Given the description of an element on the screen output the (x, y) to click on. 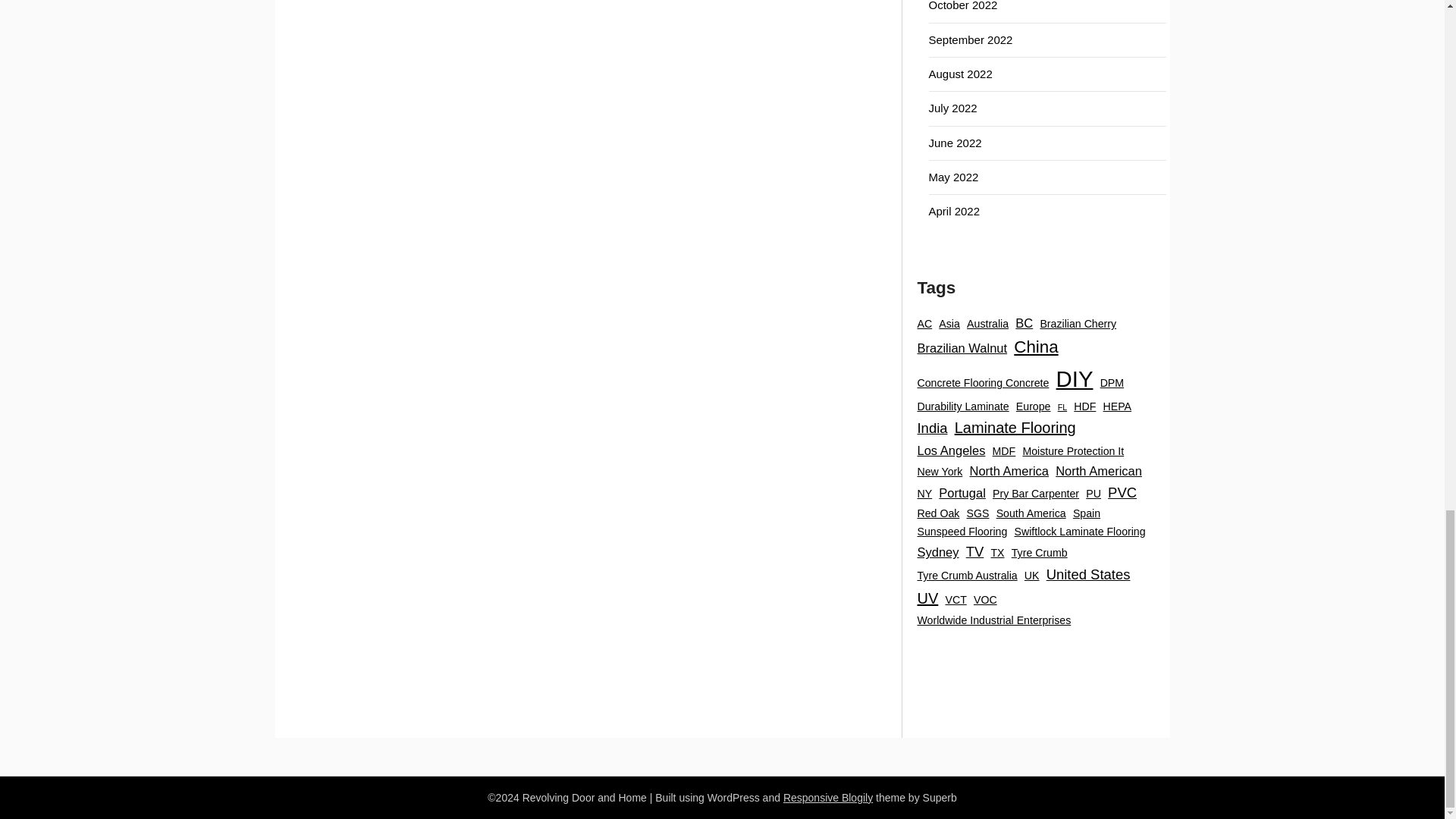
October 2022 (962, 5)
June 2022 (954, 142)
August 2022 (959, 73)
September 2022 (969, 39)
May 2022 (953, 176)
July 2022 (952, 107)
